Given the description of an element on the screen output the (x, y) to click on. 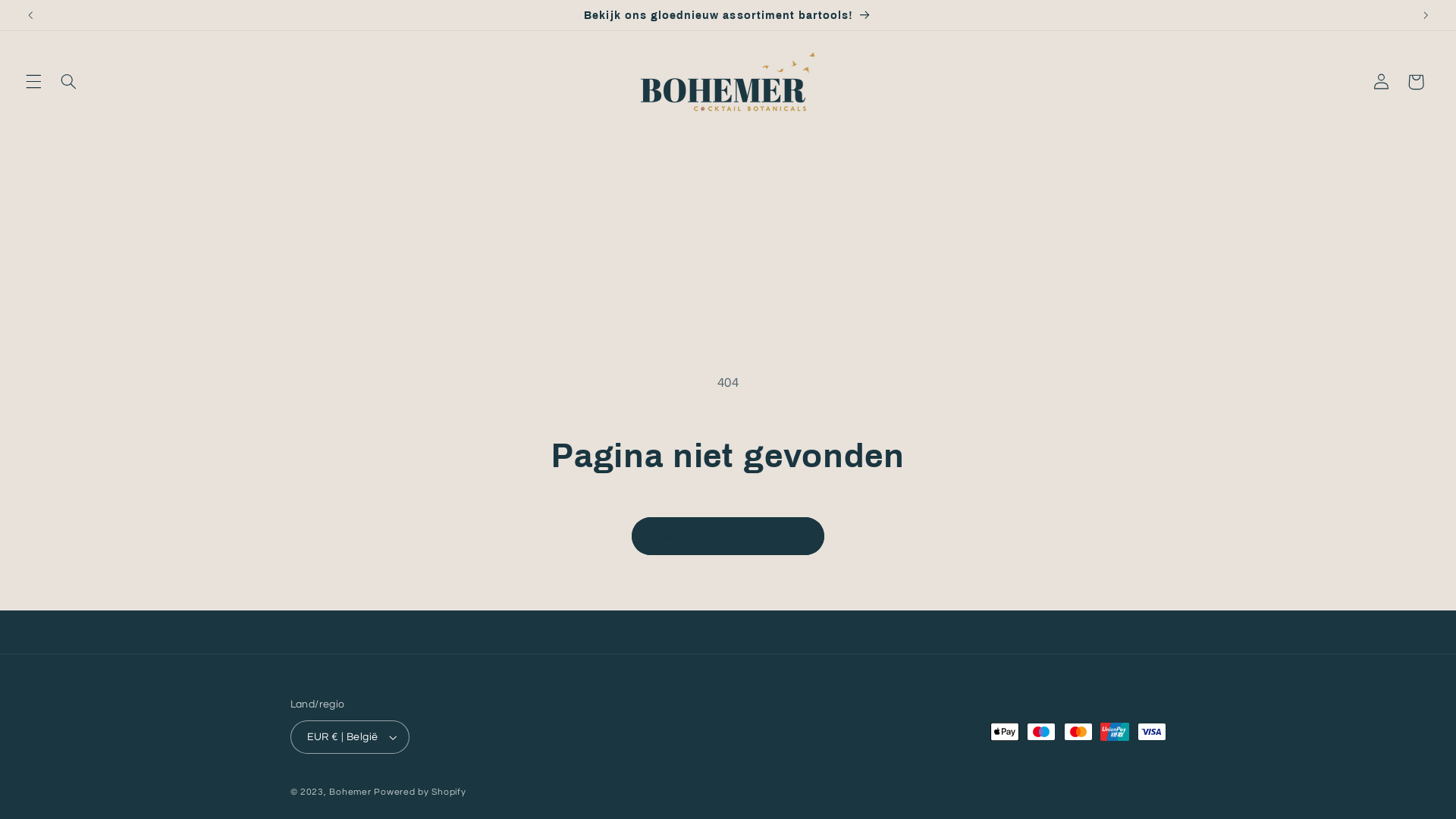
Bohemer Element type: text (349, 791)
Terugkeren naar winkel Element type: text (727, 535)
Inloggen Element type: text (1380, 81)
Bekijk ons gloednieuw assortiment bartools! Element type: text (727, 15)
Winkelwagen Element type: text (1415, 81)
